Given the description of an element on the screen output the (x, y) to click on. 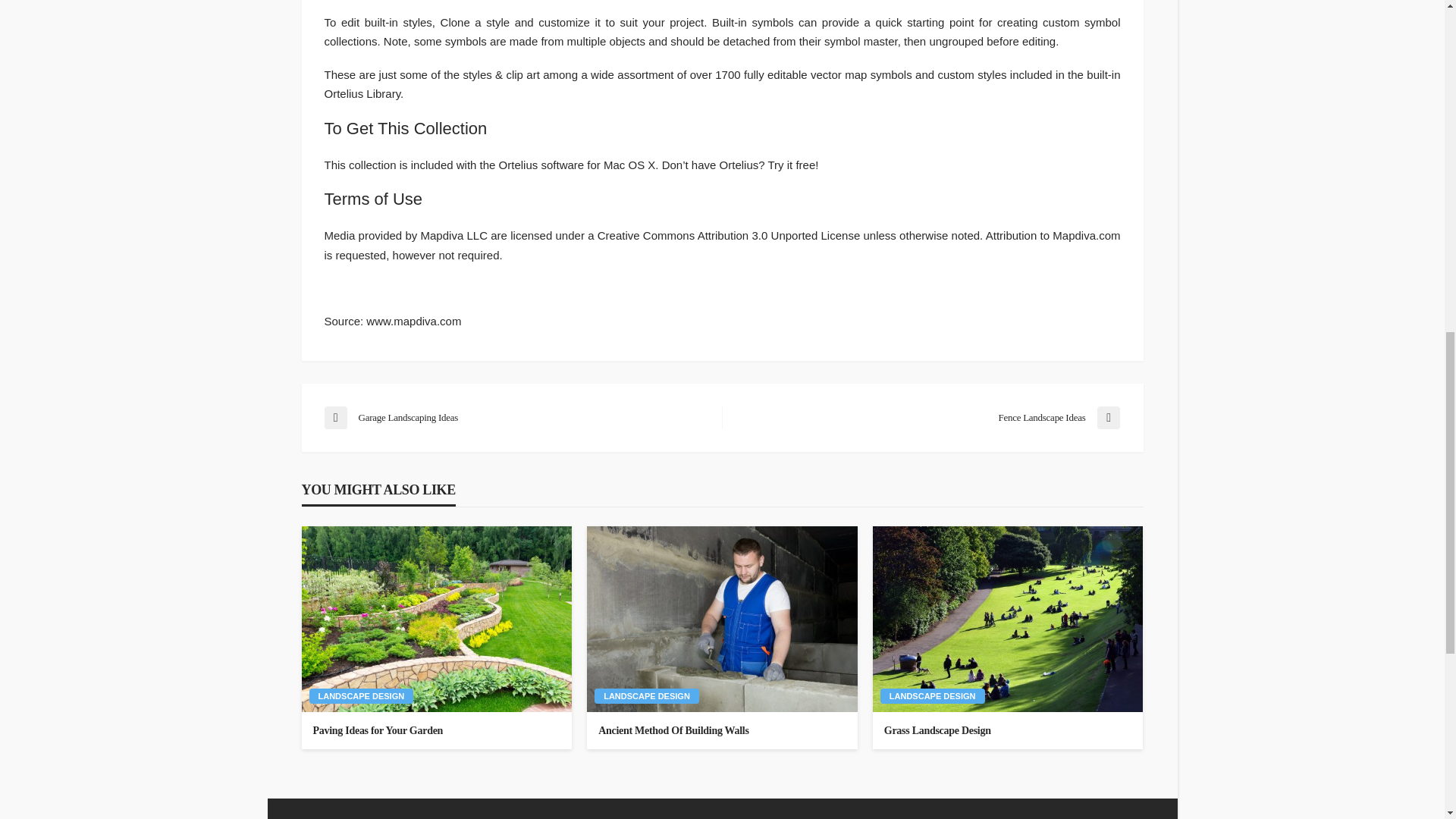
Garage Landscaping Ideas (515, 417)
Fence Landscape Ideas (927, 417)
Ancient Method Of Building Walls (721, 618)
Paving Ideas for Your Garden (436, 618)
Ancient Method Of Building Walls (721, 730)
Paving Ideas for Your Garden (436, 730)
Grass Landscape Design (1007, 730)
Landscape Design (646, 695)
Landscape Design (932, 695)
Landscape Design (360, 695)
